Given the description of an element on the screen output the (x, y) to click on. 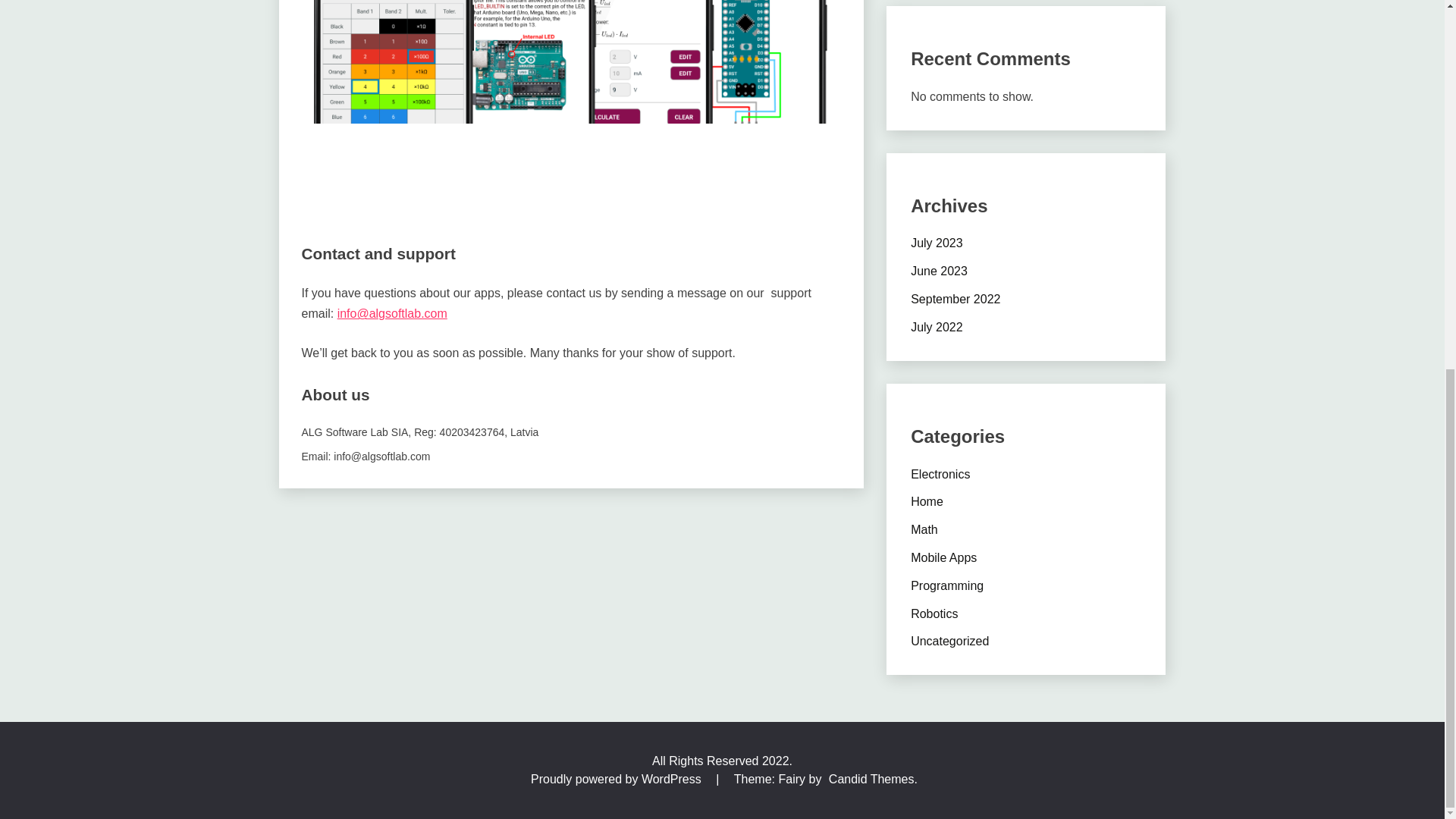
July 2023 (936, 242)
Home (927, 501)
Electronics (940, 473)
September 2022 (955, 298)
July 2022 (936, 327)
June 2023 (939, 270)
